Given the description of an element on the screen output the (x, y) to click on. 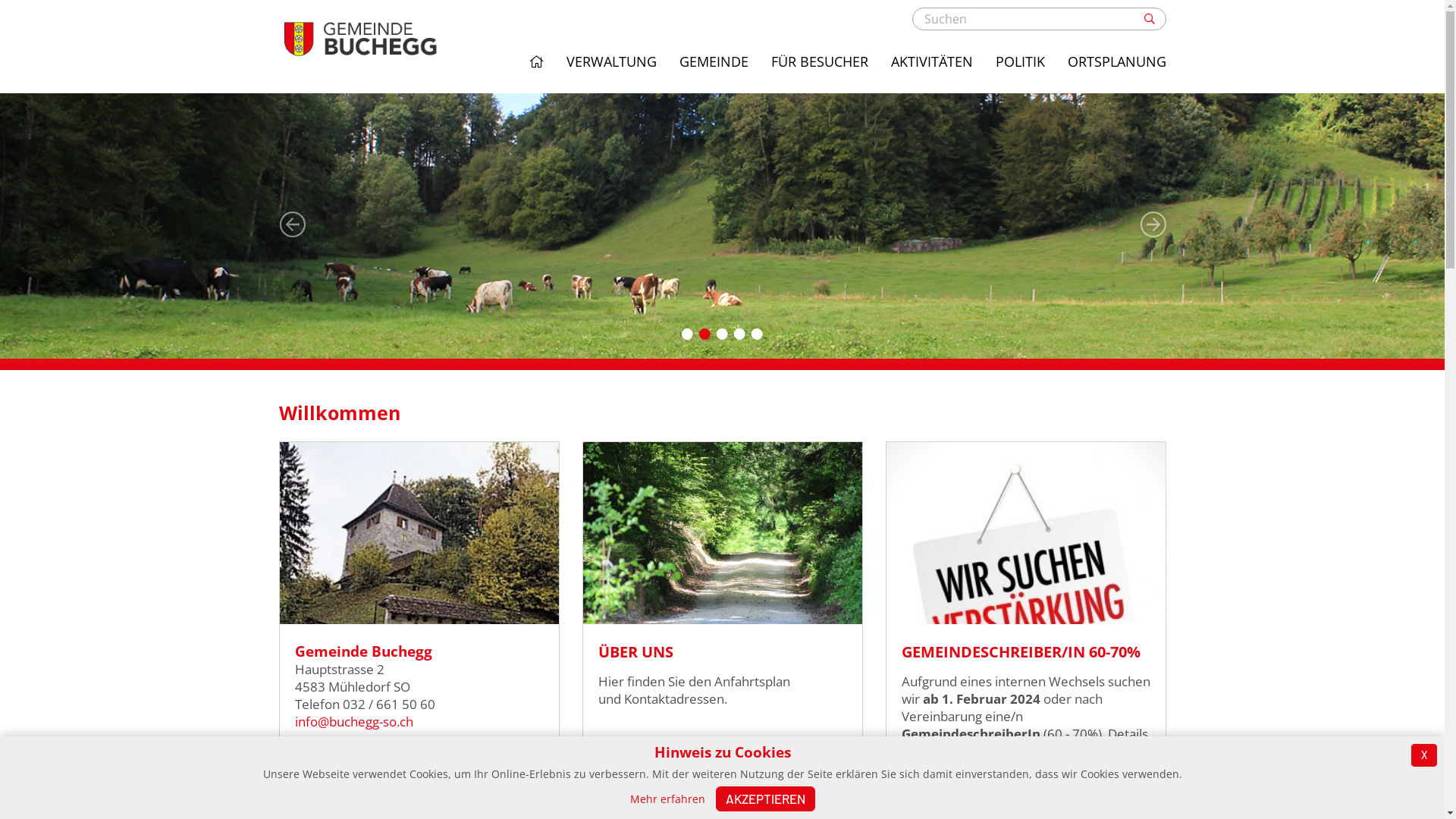
Mehr erfahren Element type: text (666, 798)
X Element type: text (1424, 754)
MEHR ERFAHREN Element type: text (721, 755)
ORTSPLANUNG Element type: text (1116, 61)
hier Element type: text (1036, 750)
VERWALTUNG Element type: text (610, 61)
info@buchegg-so.ch Element type: text (353, 721)
POLITIK Element type: text (1019, 61)
GEMEINDE Element type: text (713, 61)
Akzeptieren Element type: text (765, 798)
